Given the description of an element on the screen output the (x, y) to click on. 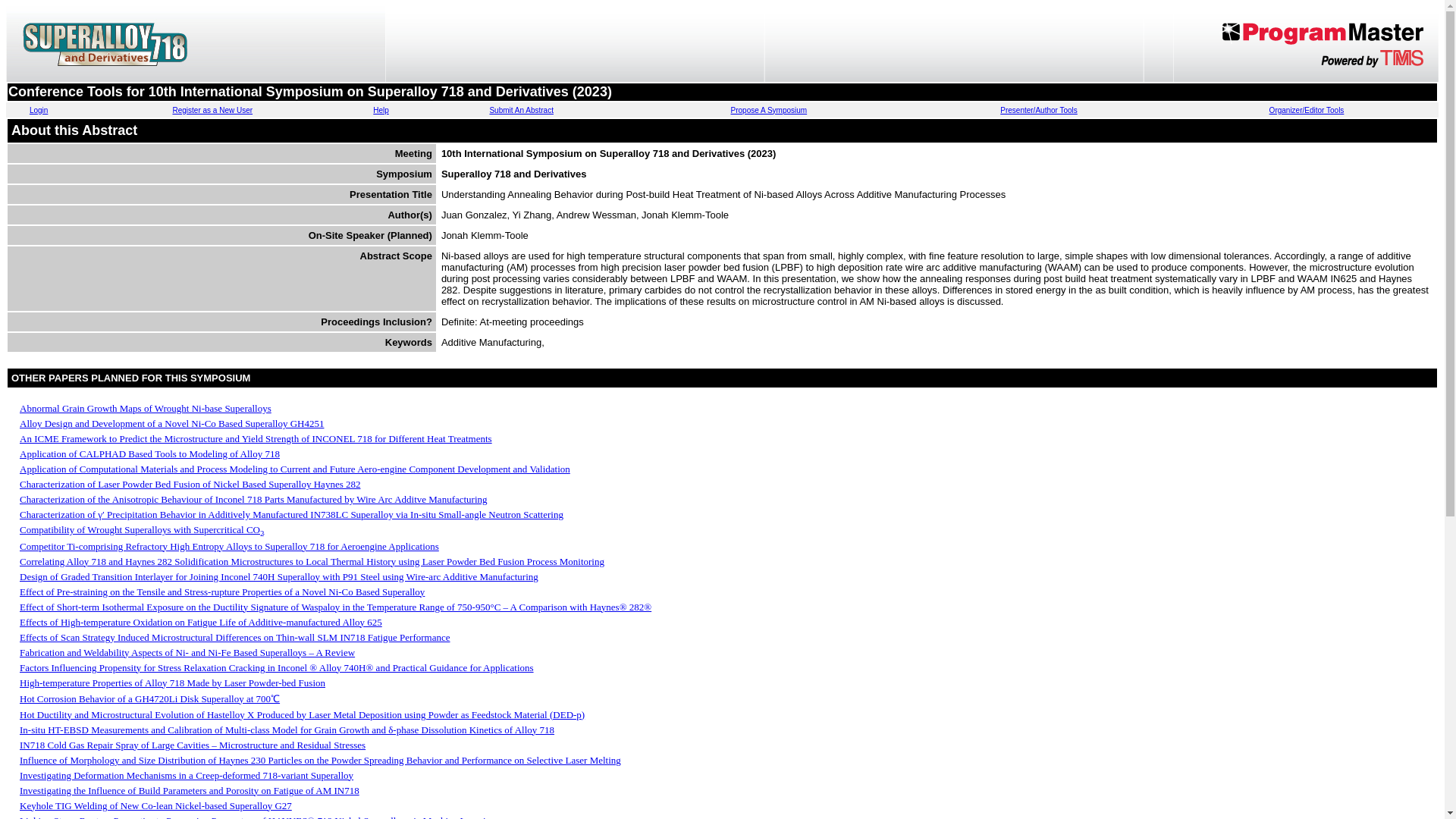
Help (380, 110)
Application of CALPHAD Based Tools to Modeling of Alloy 718 (149, 453)
Submit An Abstract (521, 110)
